Given the description of an element on the screen output the (x, y) to click on. 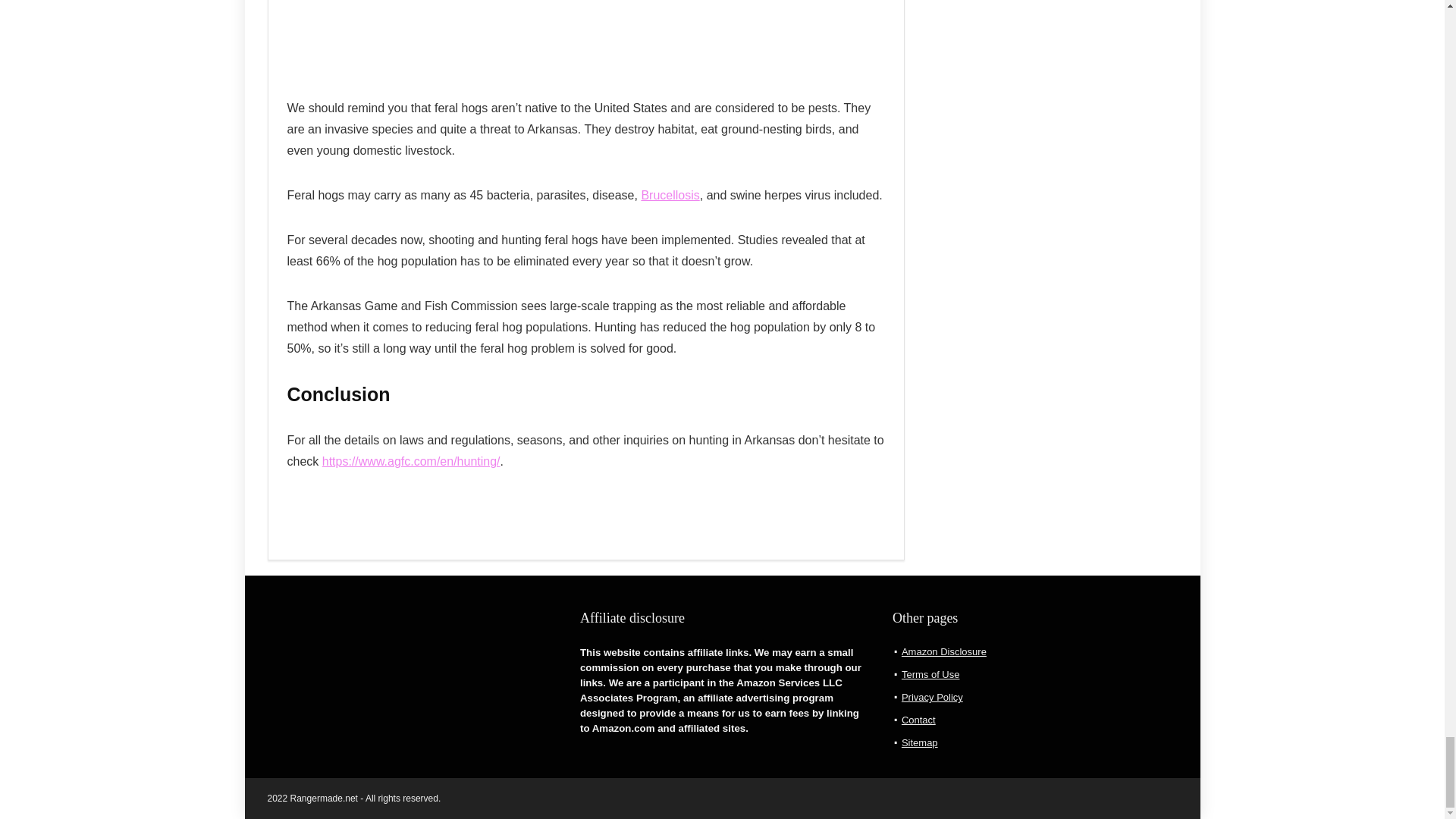
Brucellosis (669, 195)
